Given the description of an element on the screen output the (x, y) to click on. 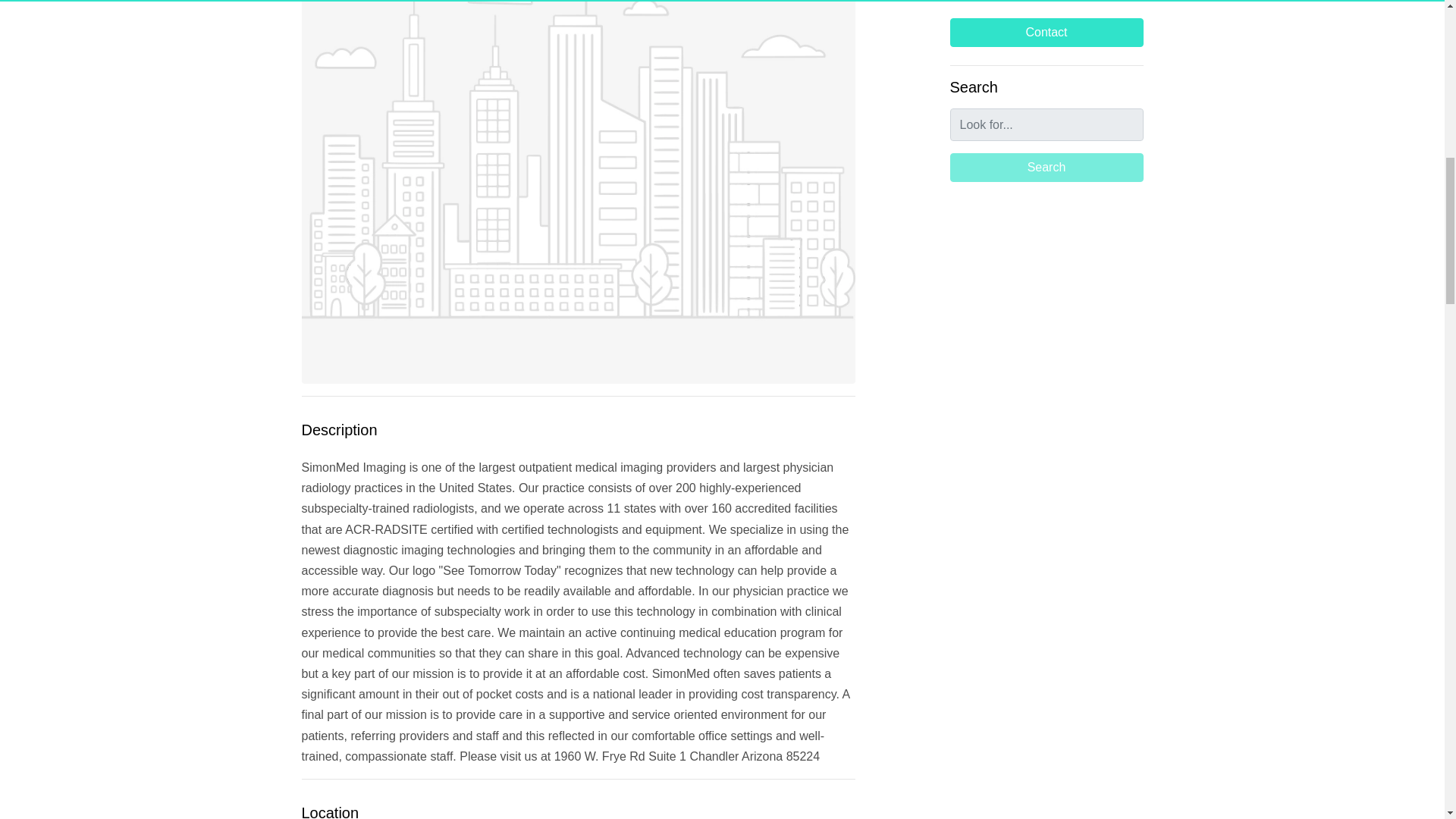
Search (1045, 167)
